Given the description of an element on the screen output the (x, y) to click on. 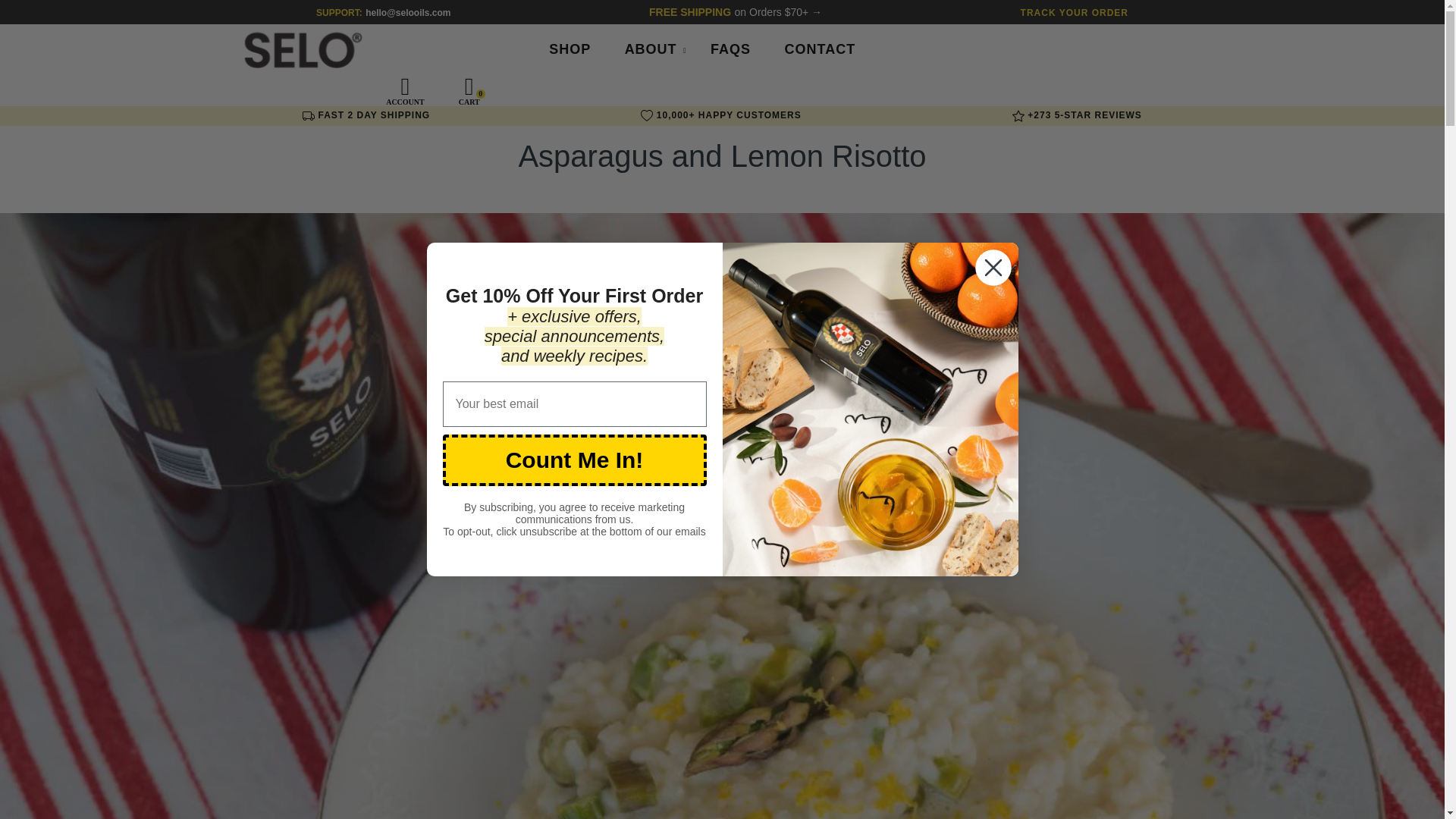
CONTACT (820, 48)
SHOP (569, 48)
FAQS (730, 48)
TRACK YOUR ORDER (1074, 12)
ABOUT (651, 49)
ACCOUNT (404, 101)
